Given the description of an element on the screen output the (x, y) to click on. 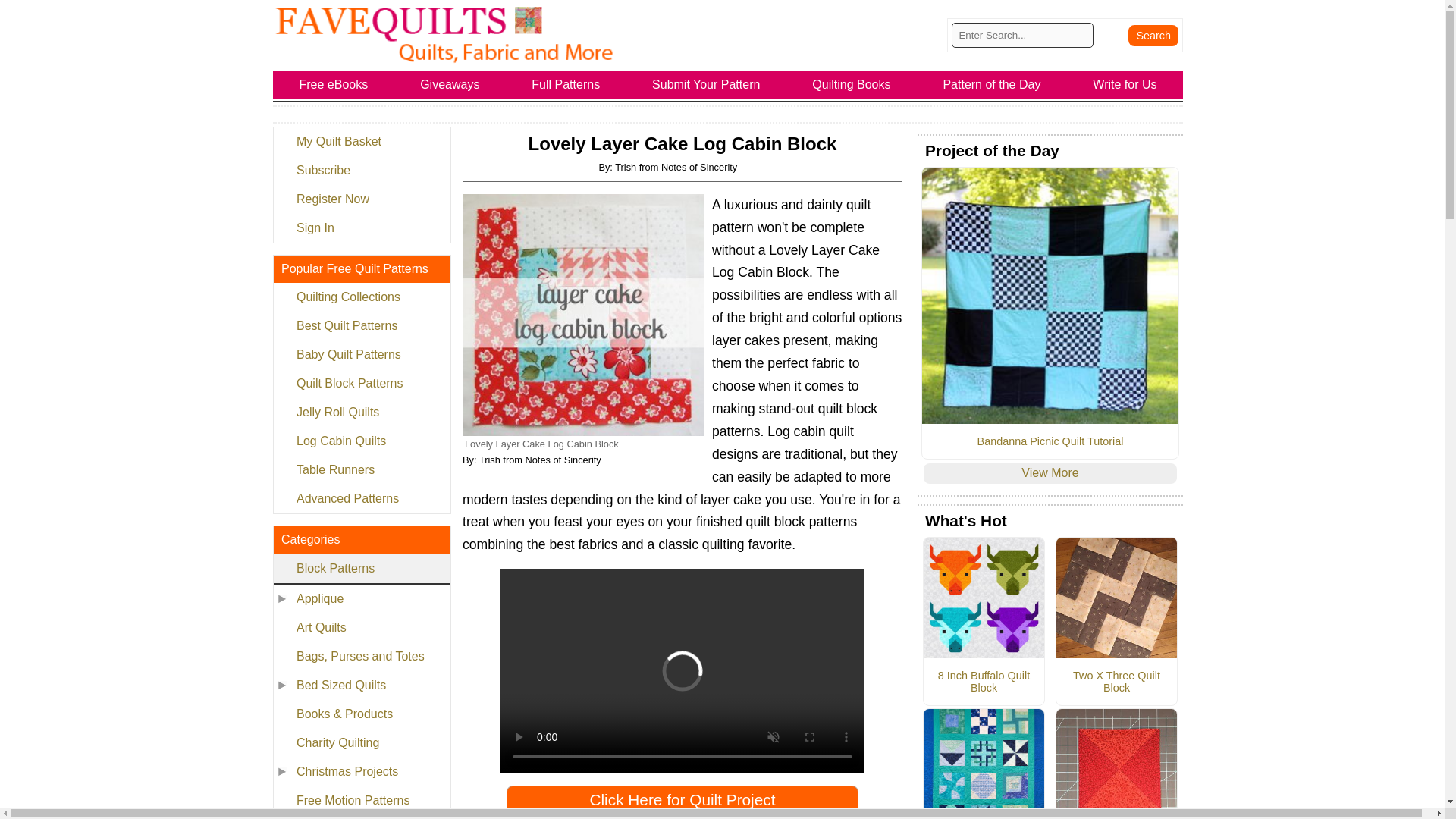
Search (1152, 35)
My Quilt Basket (361, 141)
Register Now (361, 199)
Subscribe (361, 170)
Lovely Layer Cake Log Cabin Block (583, 314)
Sign In (361, 227)
